Given the description of an element on the screen output the (x, y) to click on. 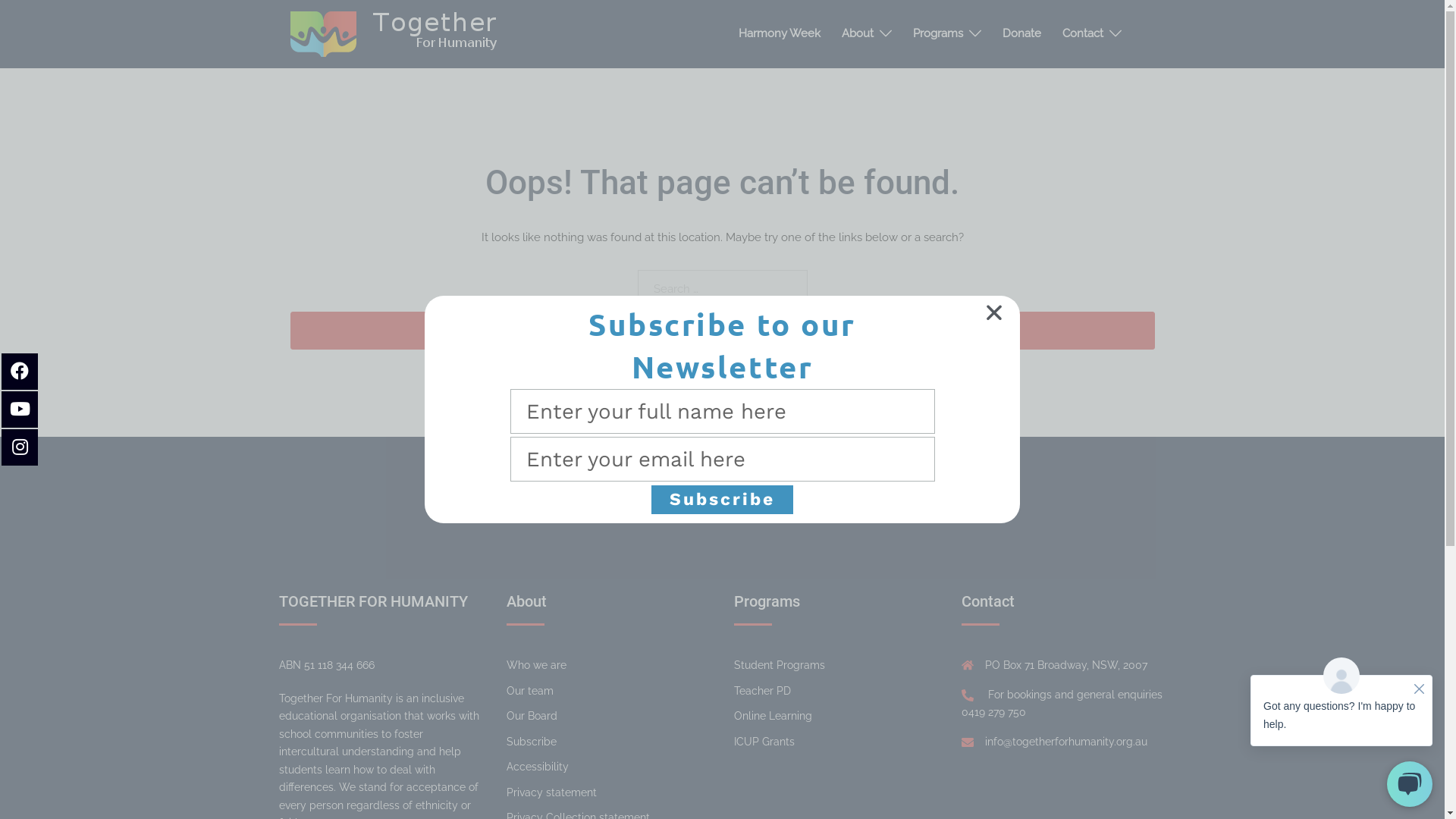
Subscribe Element type: text (721, 498)
Contact Element type: text (1081, 33)
About Element type: text (857, 33)
Online Learning Element type: text (773, 715)
Our team Element type: text (529, 690)
Our Board Element type: text (531, 715)
ICUP Grants Element type: text (764, 741)
Together for Humanity Element type: hover (395, 33)
info@togetherforhumanity.org.au Element type: text (1065, 741)
Accessibility Element type: text (537, 766)
Who we are Element type: text (536, 664)
Programs Element type: text (938, 33)
Search Element type: text (721, 330)
Student Programs Element type: text (779, 664)
Subscribe Element type: text (531, 741)
Harmony Week Element type: text (779, 33)
Donate Element type: text (1021, 33)
Privacy statement Element type: text (551, 792)
Teacher PD Element type: text (762, 690)
